Given the description of an element on the screen output the (x, y) to click on. 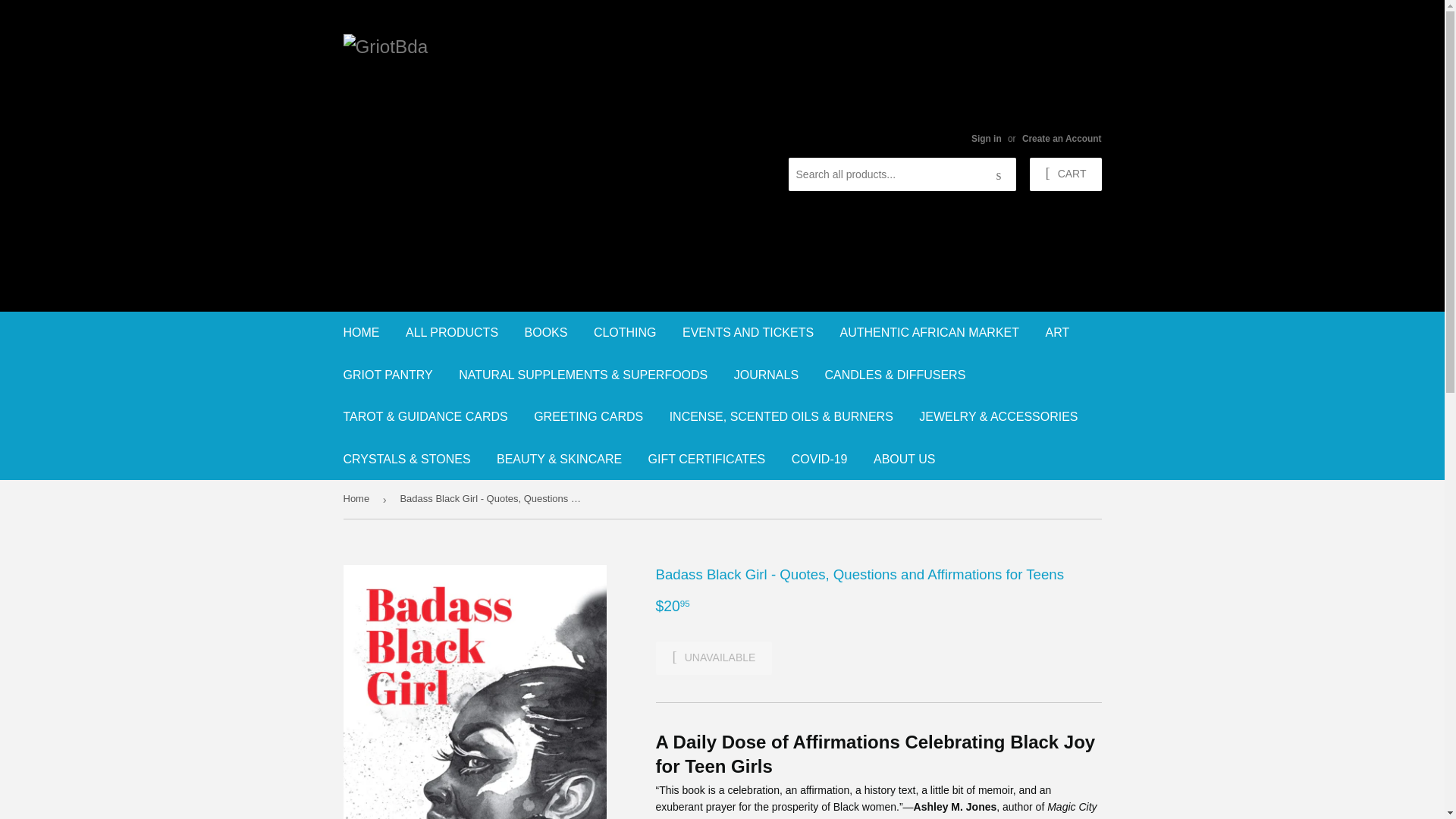
Sign in (986, 138)
EVENTS AND TICKETS (748, 332)
AUTHENTIC AFRICAN MARKET (929, 332)
GRIOT PANTRY (387, 373)
CART (1064, 174)
JOURNALS (765, 373)
BOOKS (546, 332)
CLOTHING (625, 332)
Search (998, 174)
Back to the frontpage (358, 498)
HOME (361, 332)
ALL PRODUCTS (451, 332)
ART (1056, 332)
Create an Account (1062, 138)
